Given the description of an element on the screen output the (x, y) to click on. 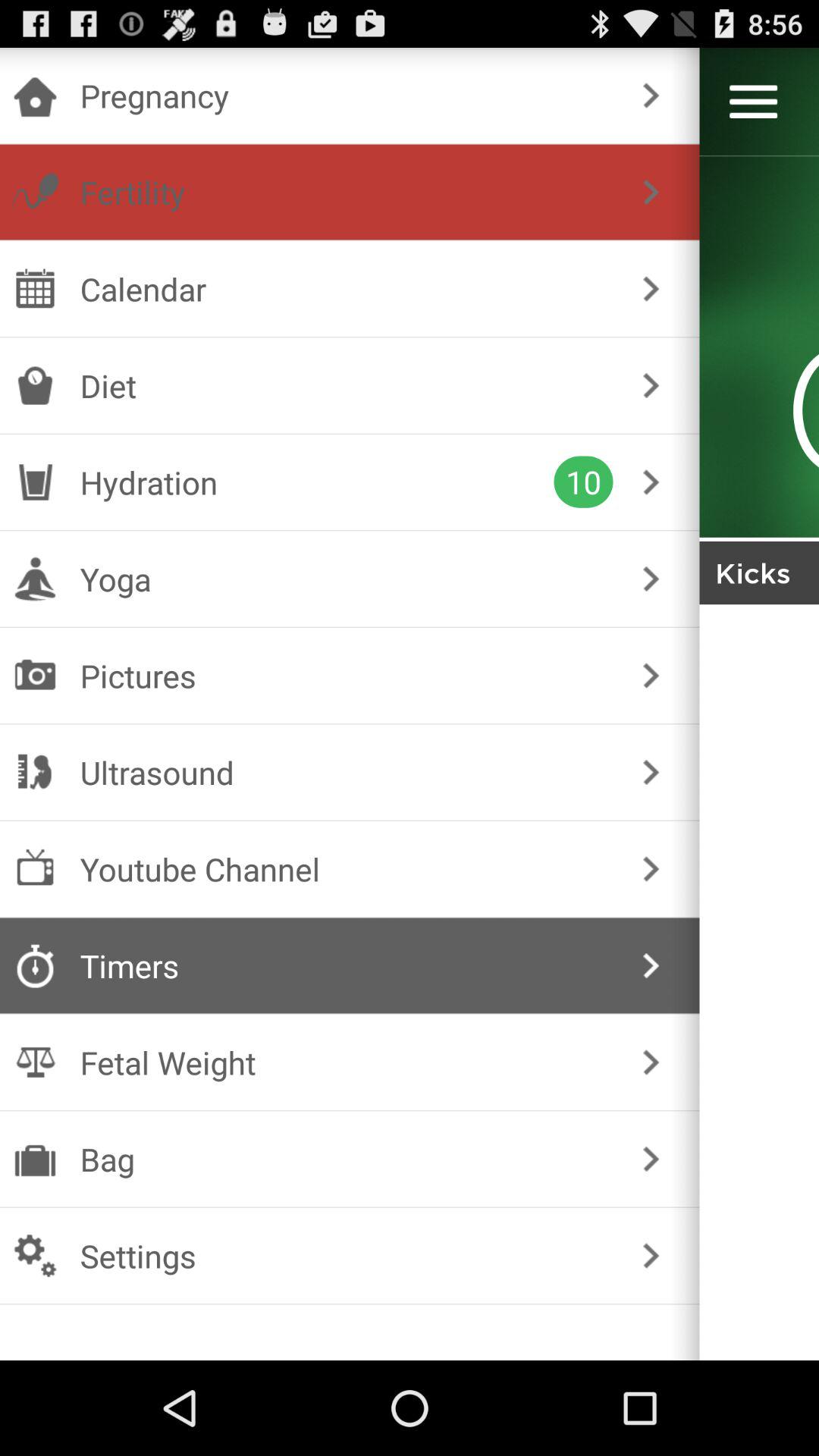
launch the icon below calendar item (346, 385)
